Given the description of an element on the screen output the (x, y) to click on. 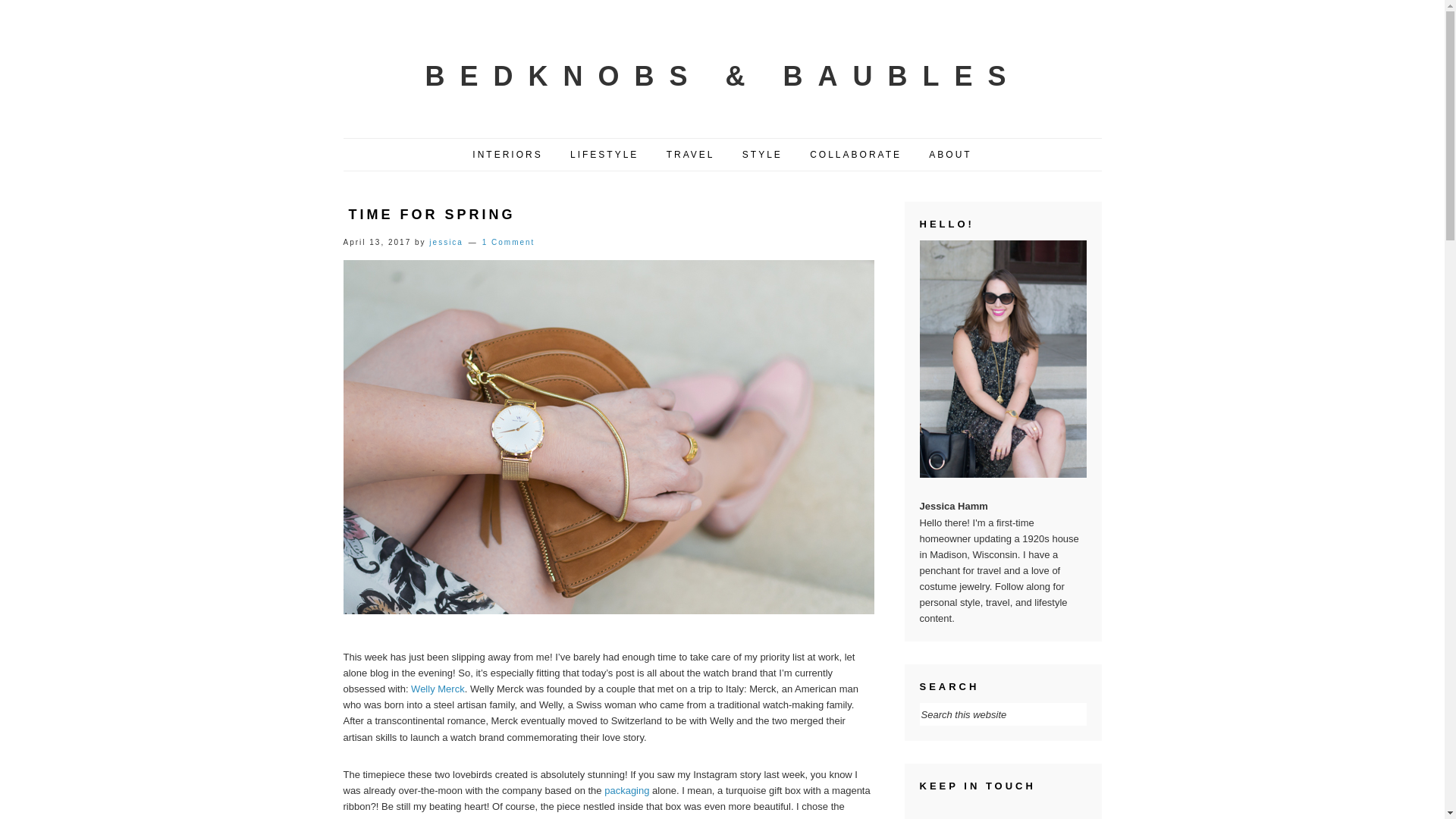
COLLABORATE (854, 154)
packaging (626, 790)
LIFESTYLE (604, 154)
INTERIORS (507, 154)
ABOUT (949, 154)
Welly Merck (437, 688)
1 Comment (508, 242)
jessica (446, 242)
TRAVEL (690, 154)
STYLE (761, 154)
TIME FOR SPRING (432, 214)
